Given the description of an element on the screen output the (x, y) to click on. 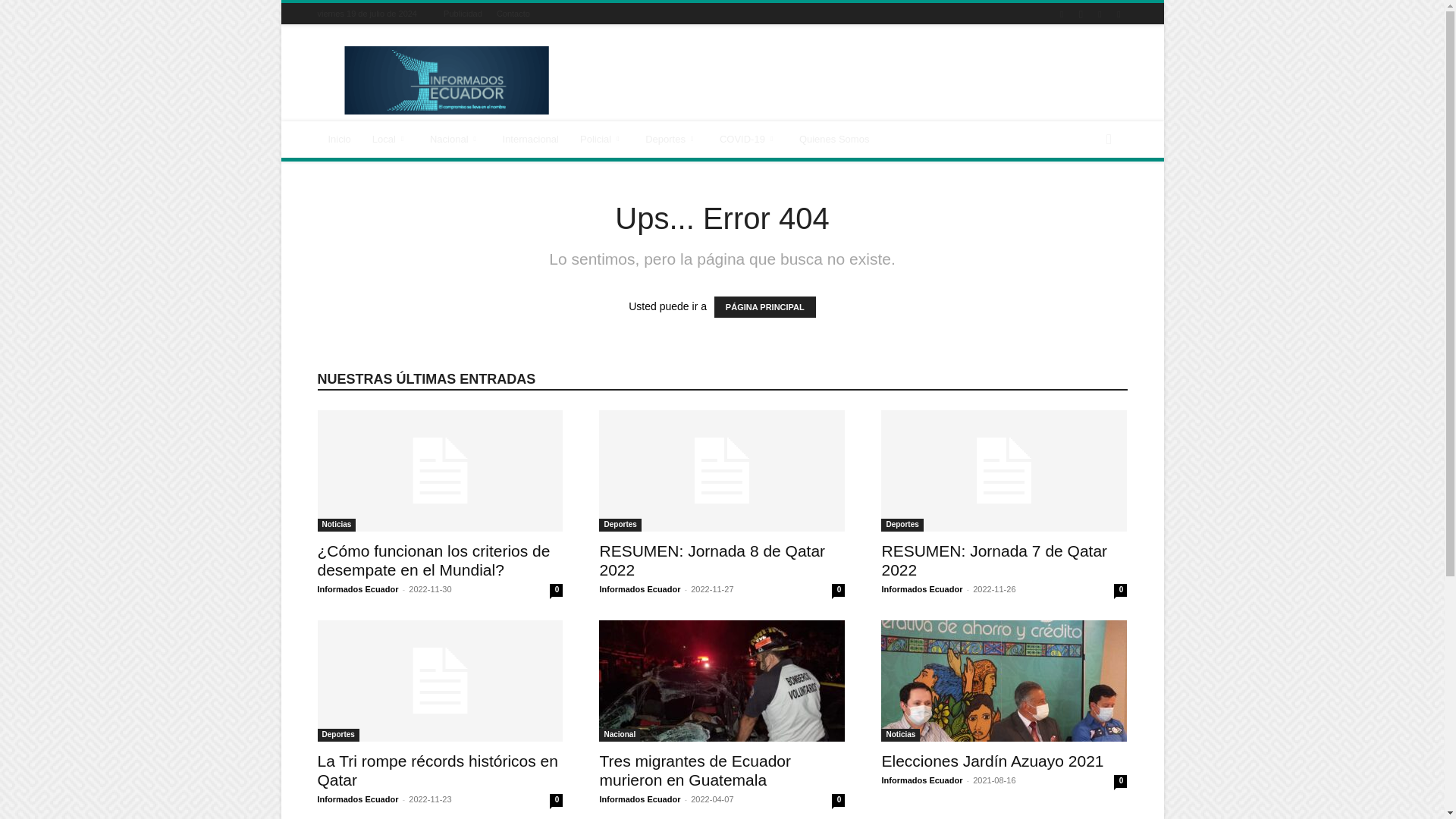
Contacto (512, 13)
Inicio (339, 139)
Local (390, 139)
There is no place like home (339, 139)
Publicidad (462, 13)
